Given the description of an element on the screen output the (x, y) to click on. 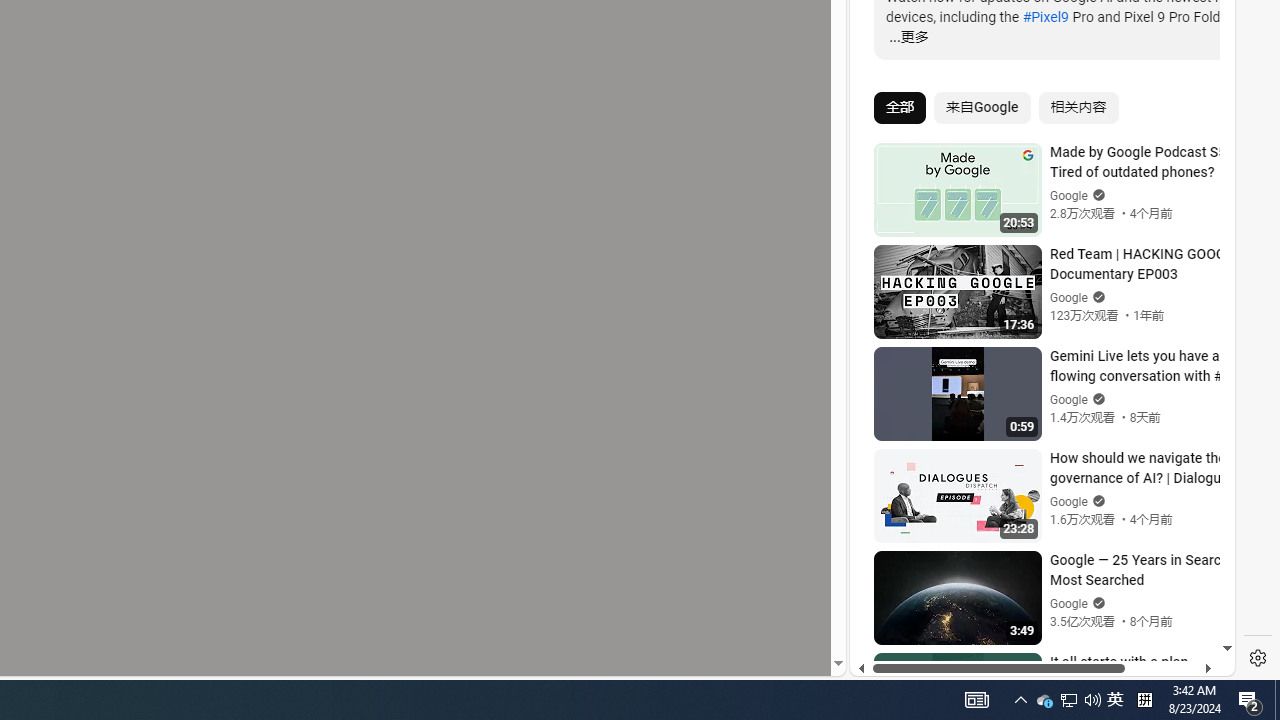
#Pixel9 (1044, 16)
you (1034, 609)
US[ju] (917, 660)
YouTube (1034, 432)
Click to scroll right (1196, 83)
Global web icon (888, 432)
